Given the description of an element on the screen output the (x, y) to click on. 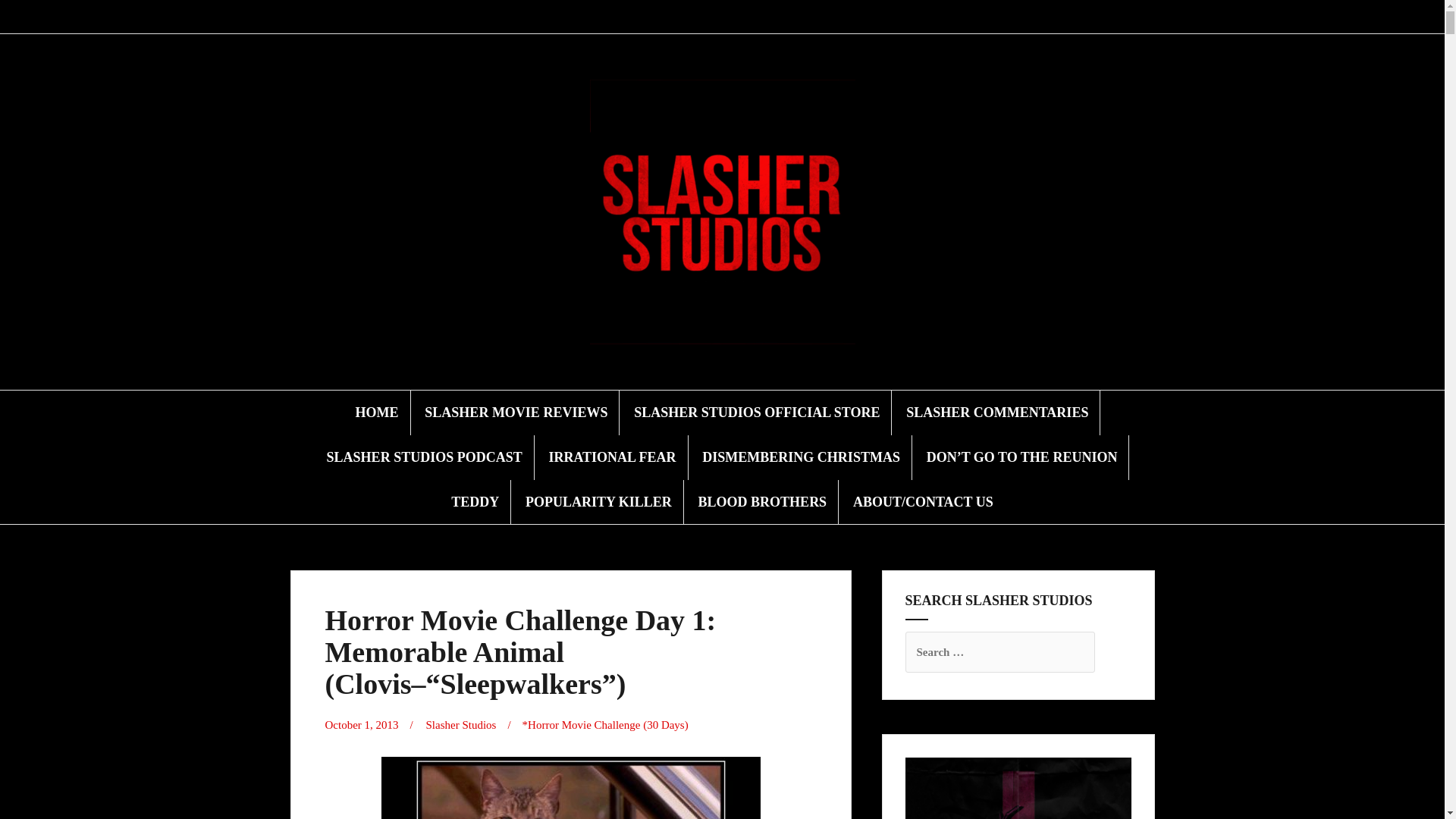
HOME (376, 413)
SLASHER COMMENTARIES (996, 413)
SLASHER MOVIE REVIEWS (516, 413)
Search (28, 20)
Slasher Studios Official Store (658, 16)
Home (622, 16)
Popularity Killer (785, 16)
Slasher Studios (460, 725)
POPULARITY KILLER (598, 502)
Slasher Commentaries (676, 16)
